Given the description of an element on the screen output the (x, y) to click on. 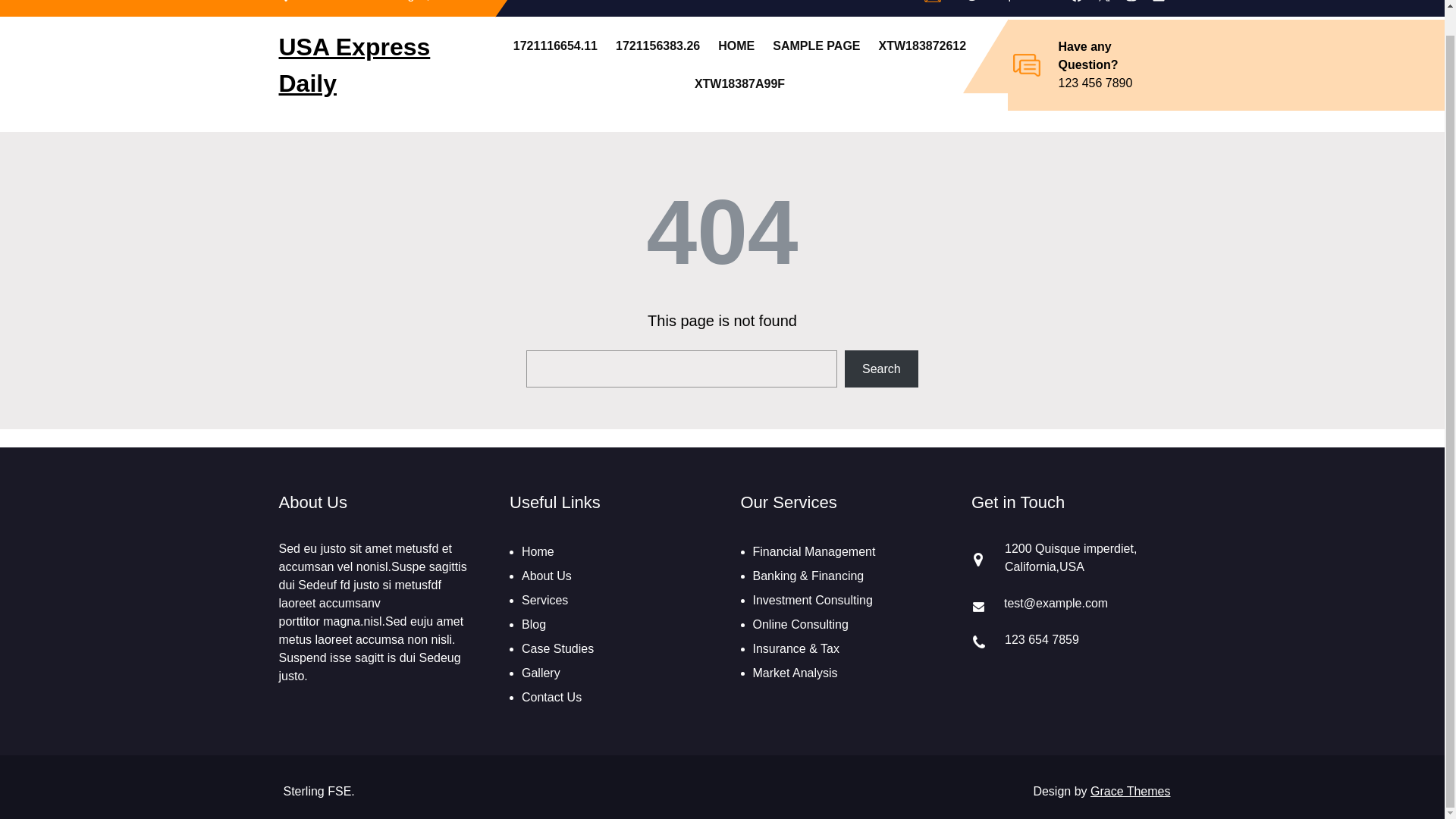
HOME (735, 46)
Search (881, 368)
X (1104, 1)
Facebook (1076, 1)
1721156383.26 (657, 46)
1721116654.11 (554, 46)
Grace Themes (1130, 790)
LinkedIn (1158, 1)
XTW18387A99F (739, 84)
SAMPLE PAGE (816, 46)
USA Express Daily (354, 65)
XTW183872612 (922, 46)
Instagram (1131, 1)
